Given the description of an element on the screen output the (x, y) to click on. 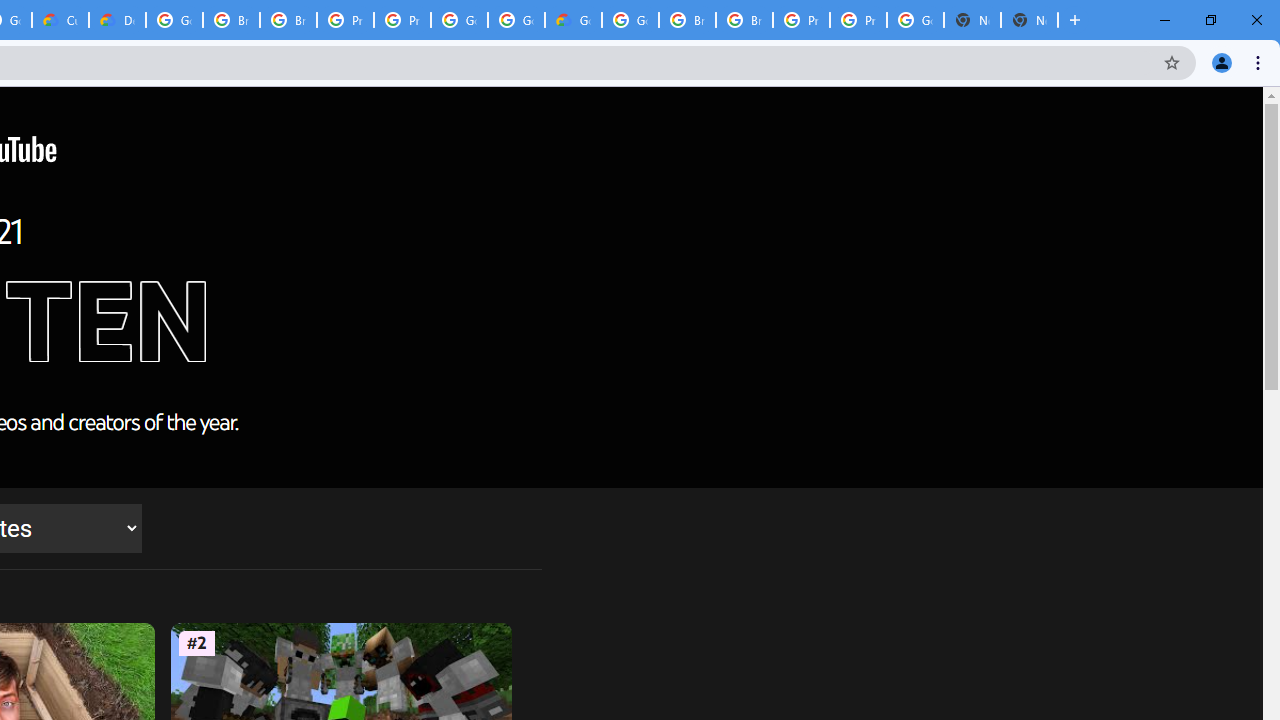
Browse Chrome as a guest - Computer - Google Chrome Help (288, 20)
Browse Chrome as a guest - Computer - Google Chrome Help (744, 20)
Google Cloud Estimate Summary (573, 20)
Google Cloud Platform (459, 20)
Google Cloud Platform (174, 20)
Customer Care | Google Cloud (60, 20)
Browse Chrome as a guest - Computer - Google Chrome Help (687, 20)
